Given the description of an element on the screen output the (x, y) to click on. 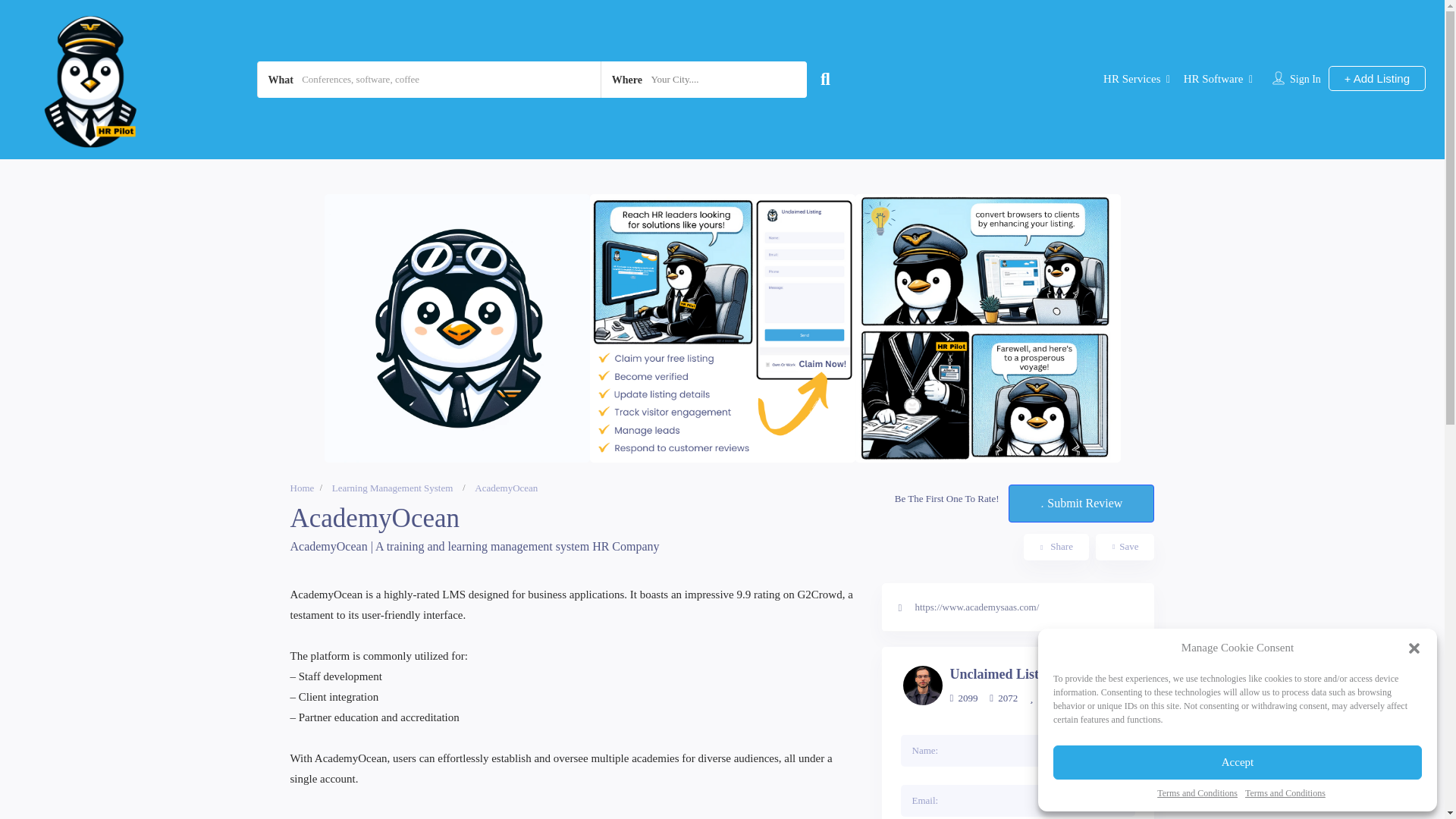
Accept (1237, 762)
Terms and Conditions (1197, 793)
Terms and Conditions (1284, 793)
